Given the description of an element on the screen output the (x, y) to click on. 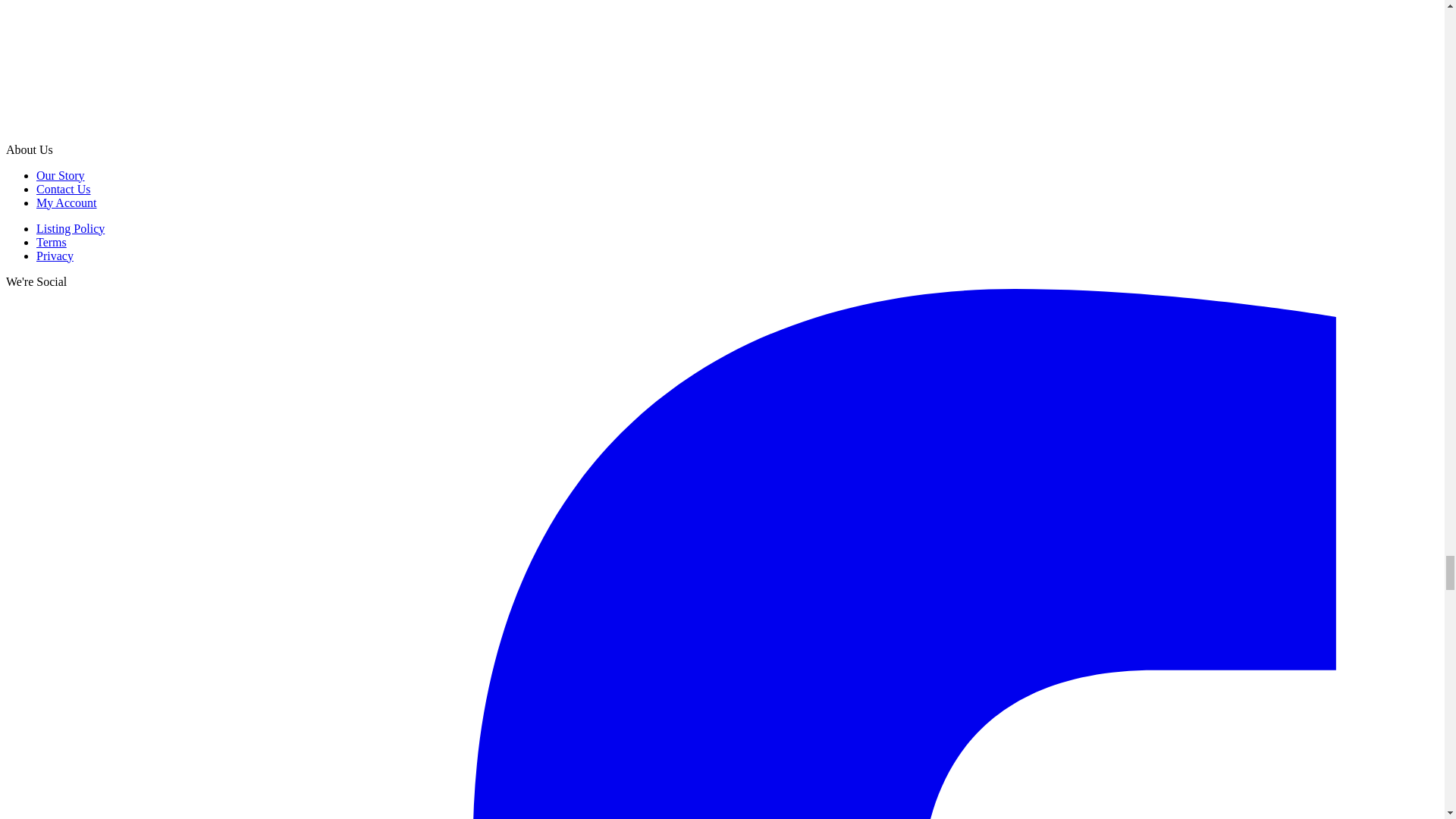
Terms (51, 241)
Contact Us (63, 188)
Our Story (60, 174)
Listing Policy (70, 228)
My Account (66, 202)
Privacy (55, 255)
